Given the description of an element on the screen output the (x, y) to click on. 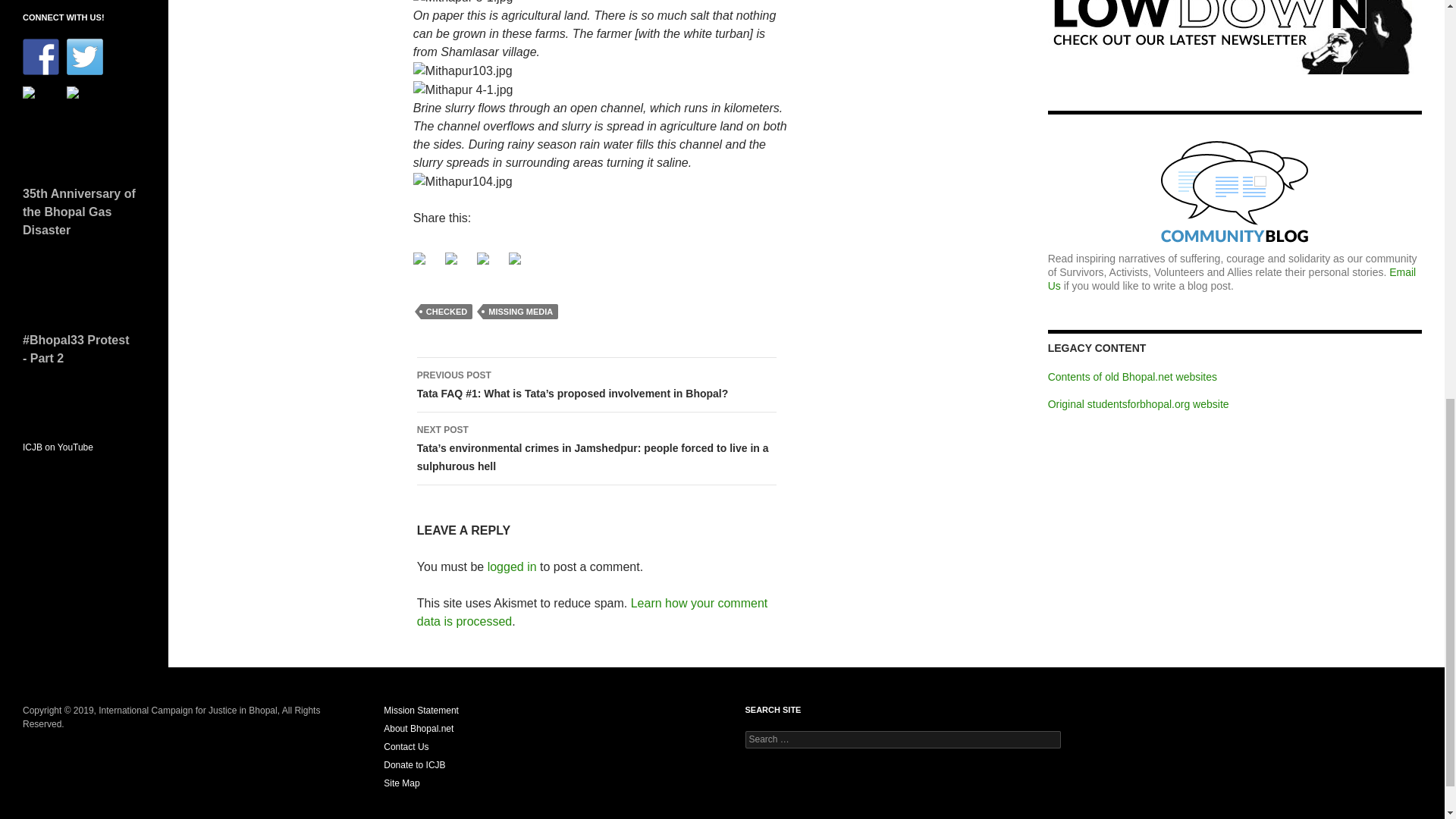
Share on Reddit (488, 264)
Tweet this! (451, 258)
Learn how your comment data is processed (591, 612)
Share on Facebook (425, 264)
Share by email (520, 264)
Share by email (514, 258)
Share on Facebook (419, 258)
CHECKED (445, 311)
logged in (512, 566)
MISSING MEDIA (520, 311)
Share on Reddit (483, 258)
Tweet this! (456, 264)
